Given the description of an element on the screen output the (x, y) to click on. 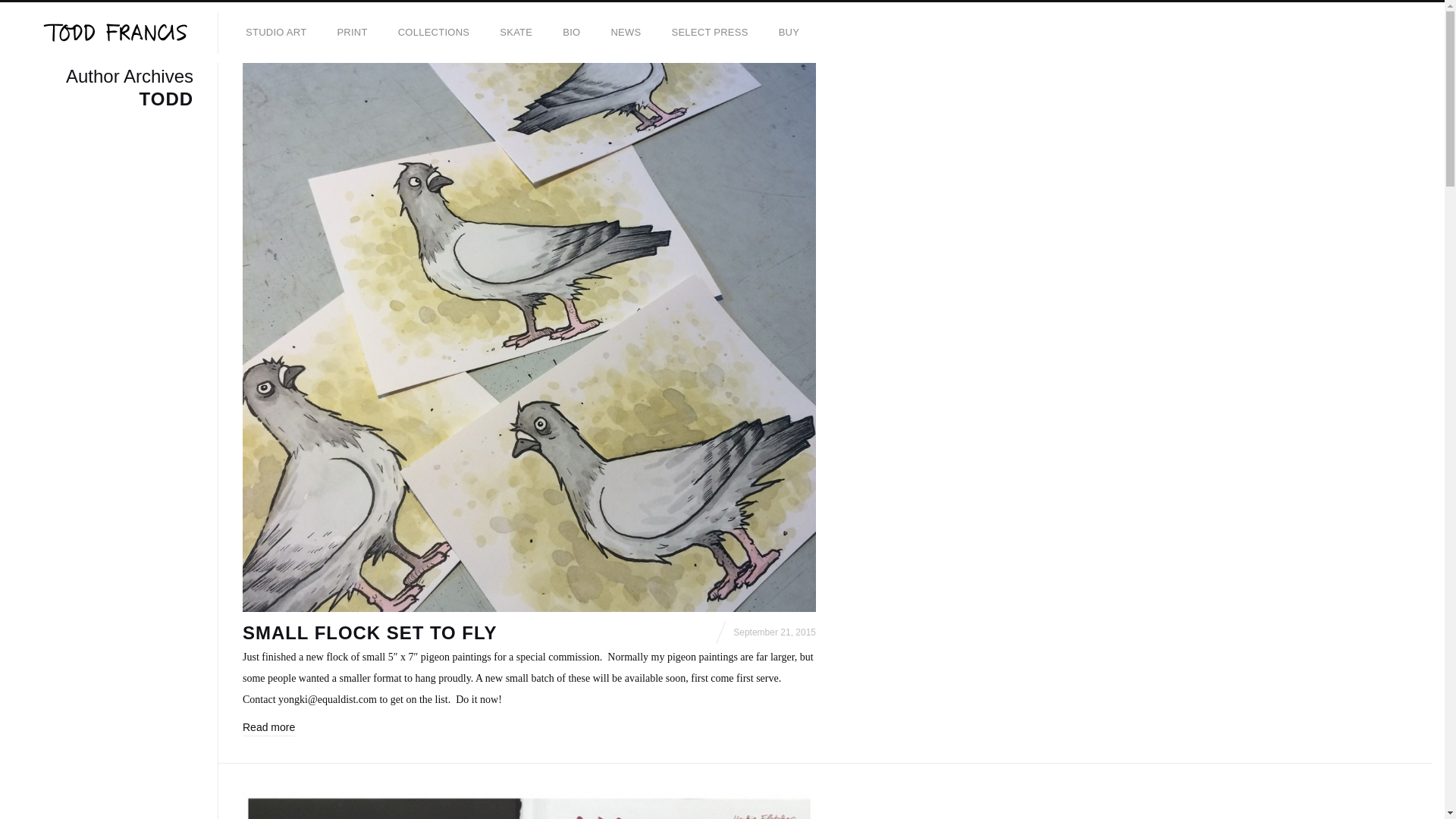
Permalink to Small Flock Set to Fly (369, 632)
PRINT (351, 32)
NEWS (625, 32)
Todd Francis (114, 32)
SMALL FLOCK SET TO FLY (369, 632)
SELECT PRESS (709, 32)
SKATE (515, 32)
COLLECTIONS (433, 32)
Read more (269, 728)
STUDIO ART (275, 32)
BUY (102, 91)
Web Shop (789, 32)
BIO (789, 32)
